Given the description of an element on the screen output the (x, y) to click on. 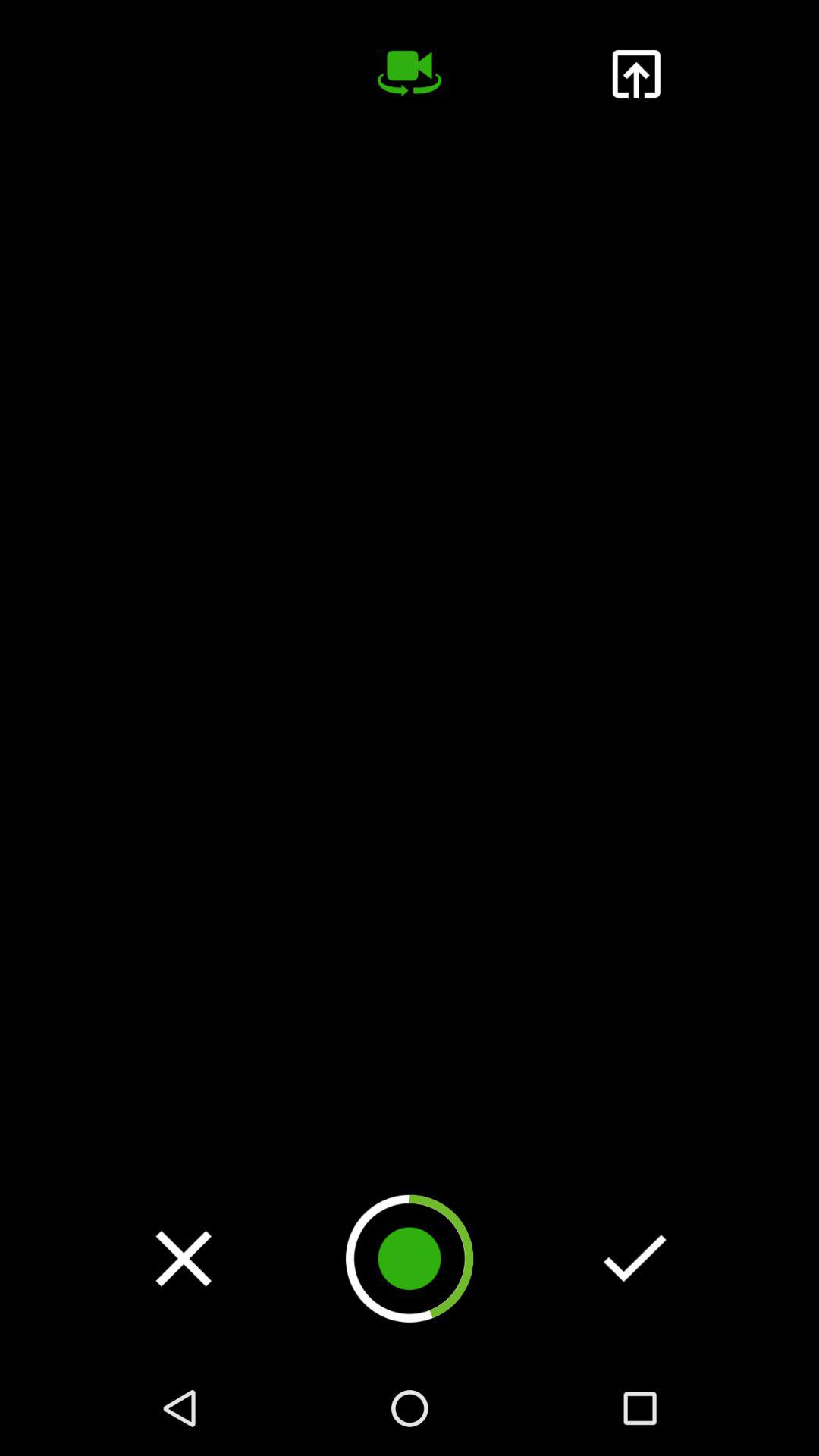
launch the item at the top right corner (635, 73)
